Given the description of an element on the screen output the (x, y) to click on. 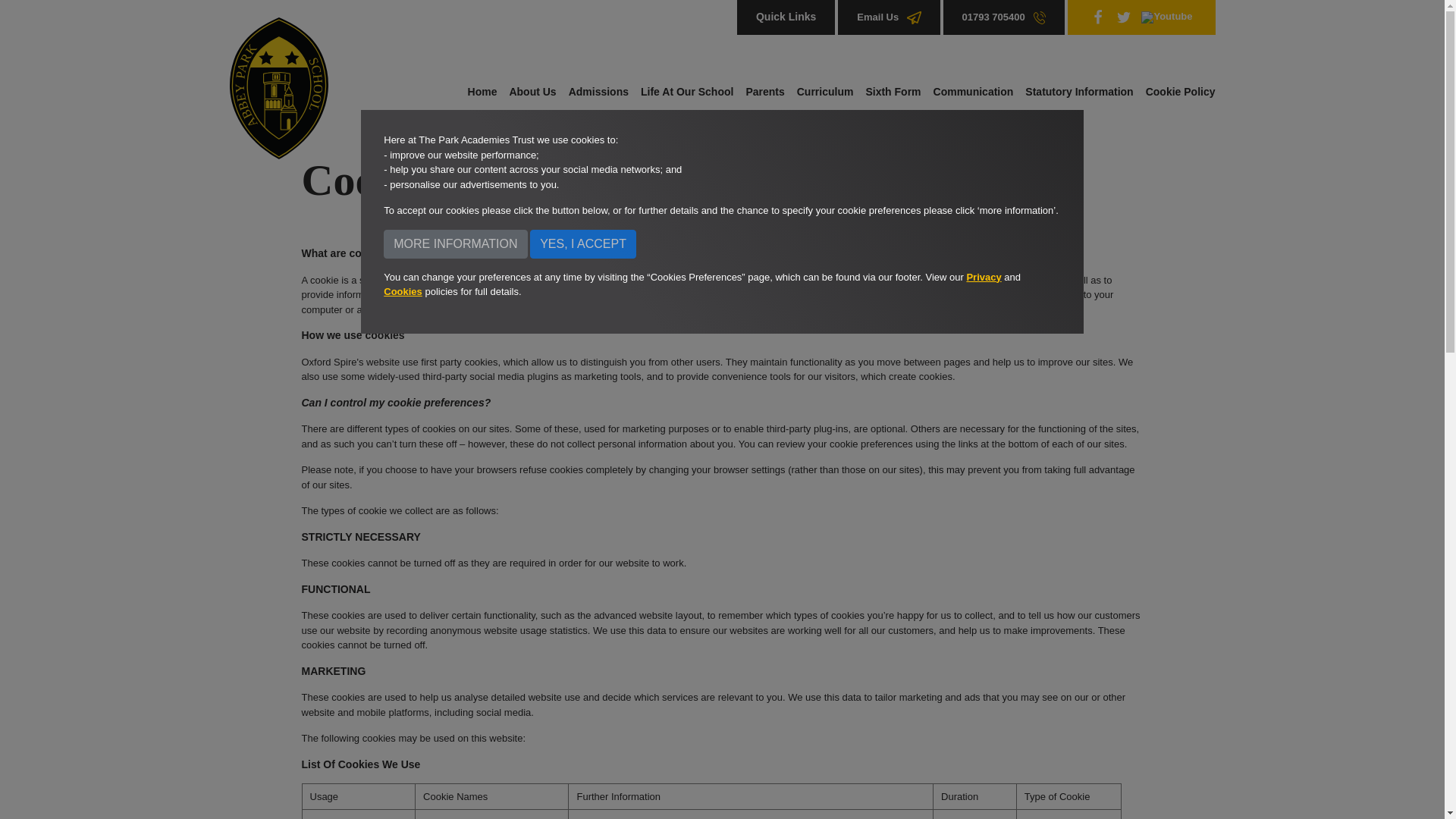
Home (485, 91)
YES, I ACCEPT (582, 243)
About Us (532, 91)
MORE INFORMATION (455, 243)
01793 705400   (1004, 16)
YES, I ACCEPT (582, 243)
Twitter feed (1123, 16)
Youtube page (1166, 16)
MORE INFORMATION (455, 243)
Facebook page (1097, 16)
Quick Links (785, 16)
Cookies (403, 293)
Privacy (983, 278)
Email Us   (888, 16)
